Given the description of an element on the screen output the (x, y) to click on. 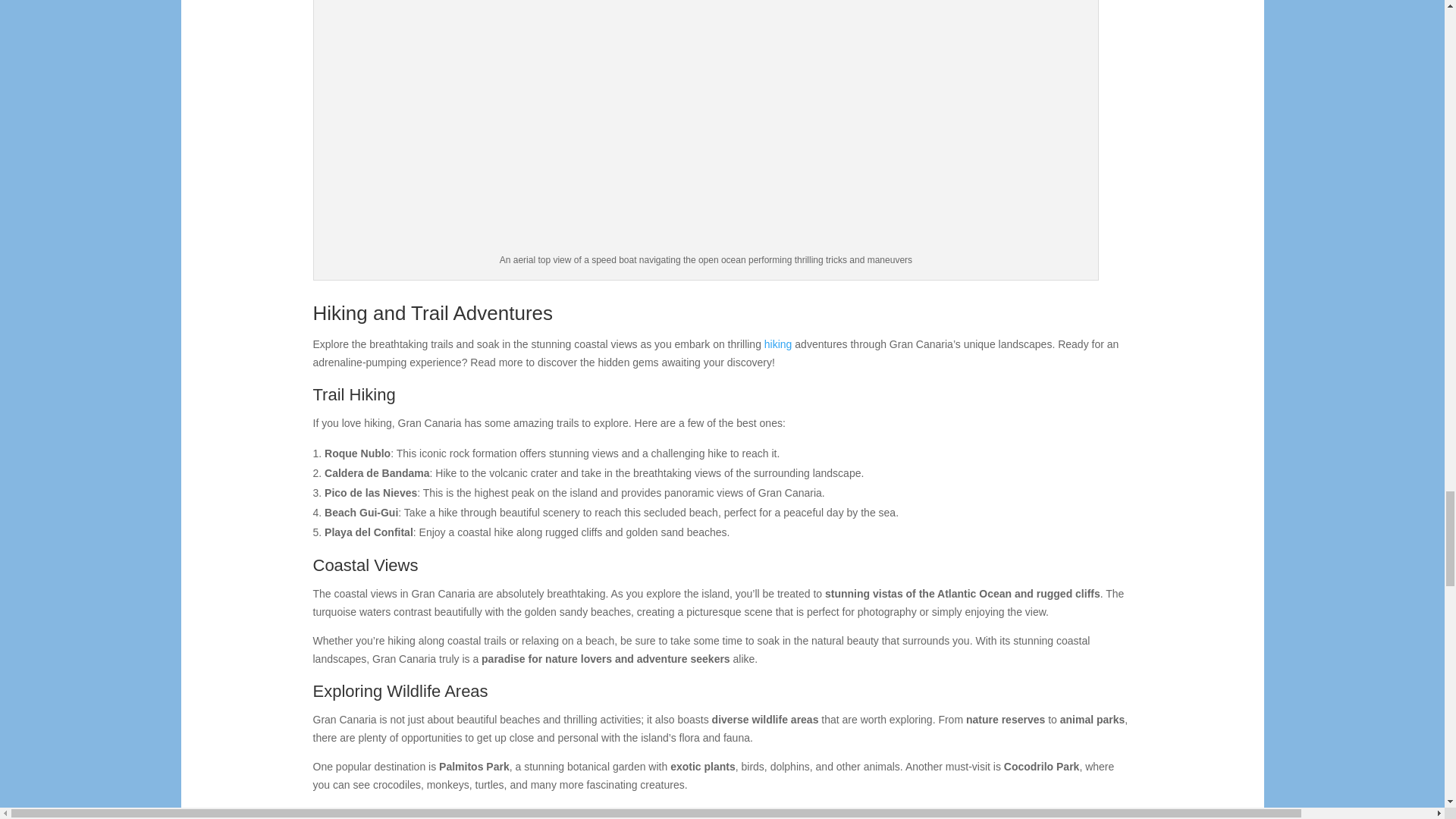
hiking (778, 344)
